Given the description of an element on the screen output the (x, y) to click on. 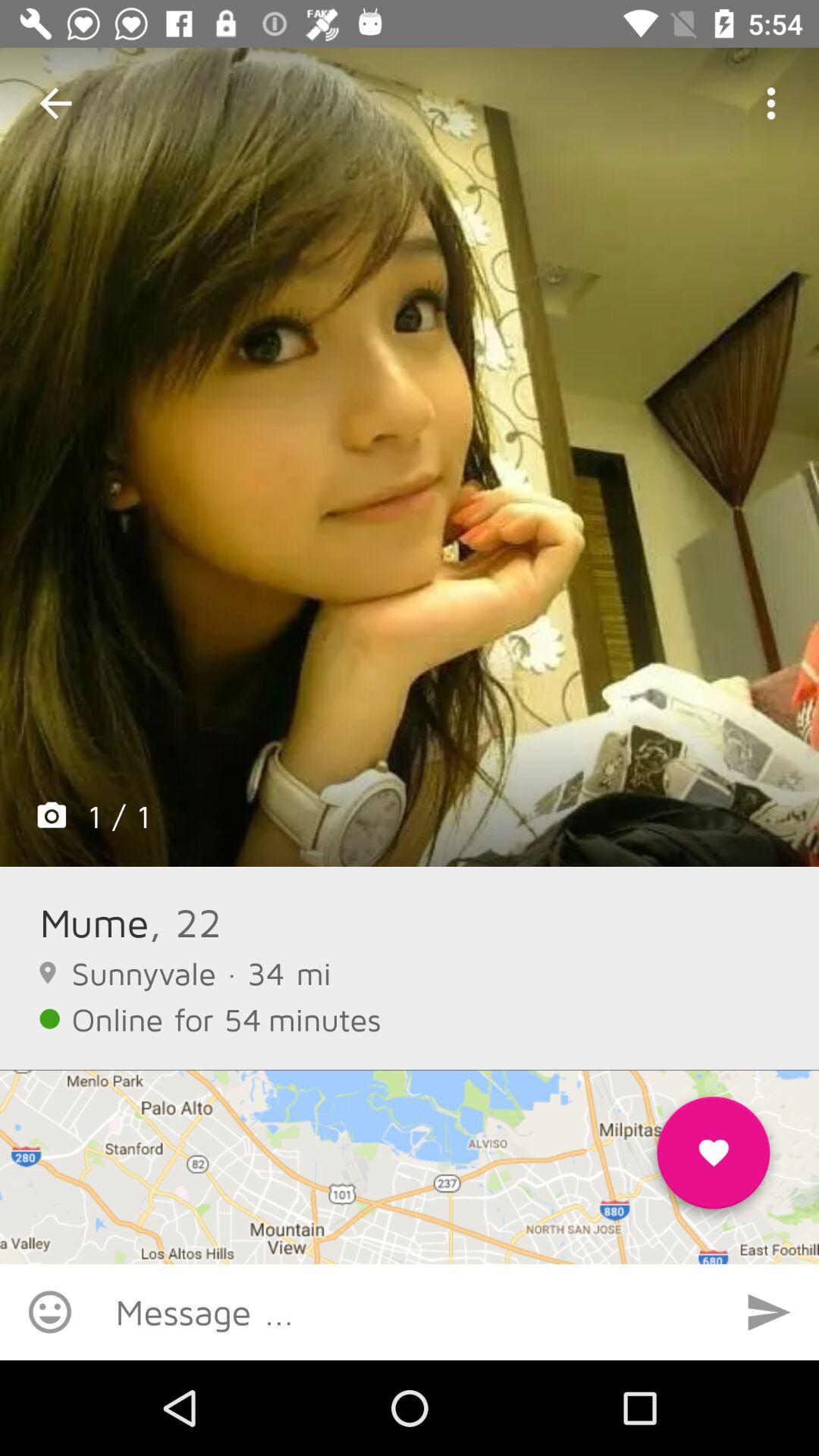
open emojis (49, 1312)
